Given the description of an element on the screen output the (x, y) to click on. 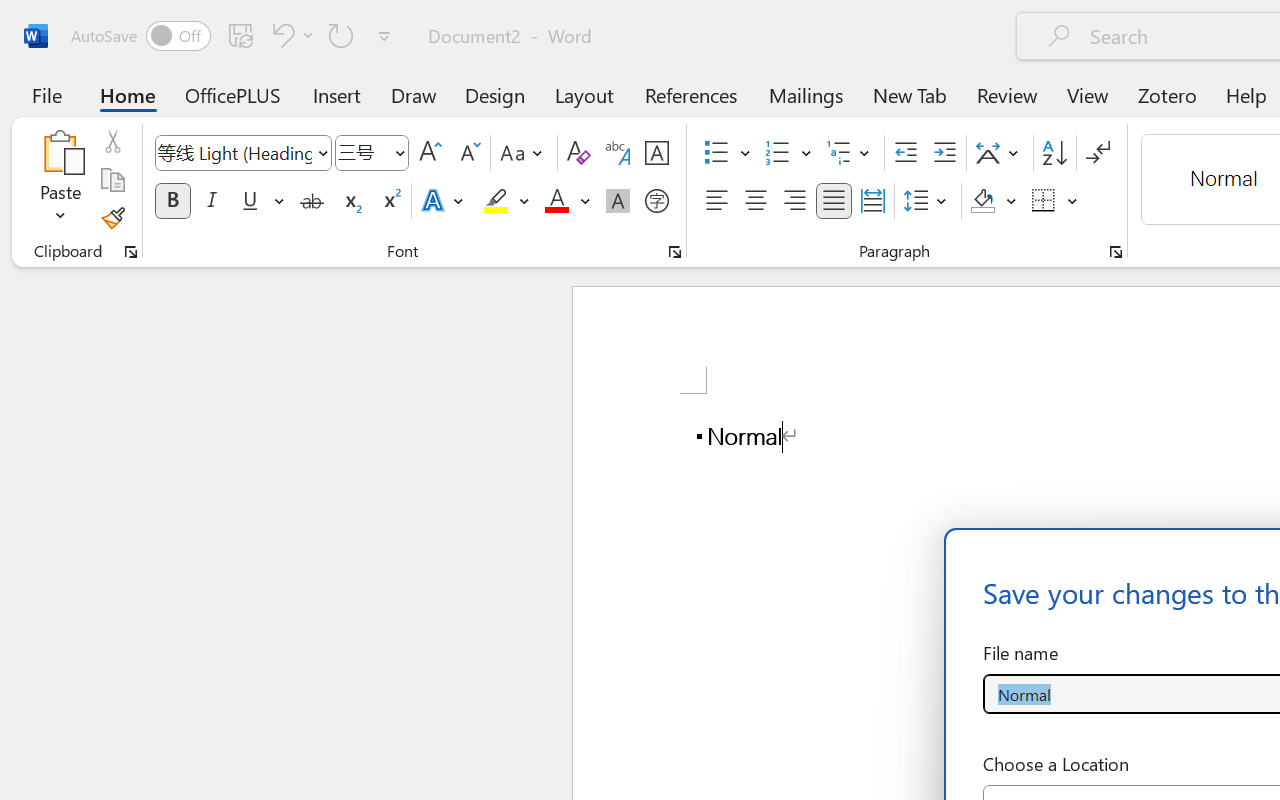
Insert (337, 94)
Show/Hide Editing Marks (1098, 153)
Font Size (372, 153)
Justify (834, 201)
Increase Indent (944, 153)
File Tab (46, 94)
Shading RGB(0, 0, 0) (982, 201)
Bullets (716, 153)
Text Effects and Typography (444, 201)
Distributed (872, 201)
Paste (60, 151)
Clear Formatting (578, 153)
Character Border (656, 153)
Strikethrough (312, 201)
